Given the description of an element on the screen output the (x, y) to click on. 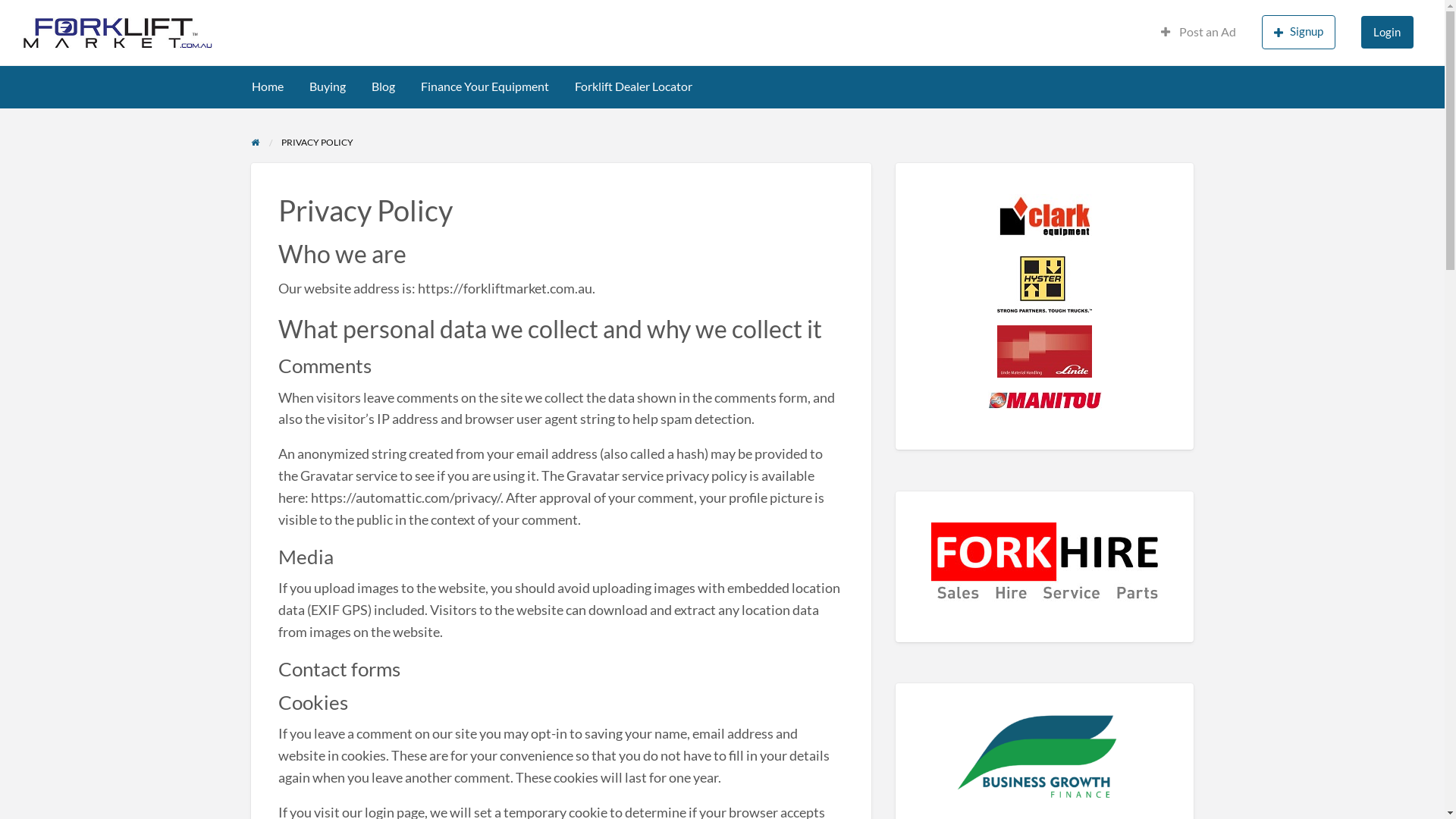
Forklift Dealer Locator Element type: text (633, 86)
Blog Element type: text (382, 86)
Finance Your Equipment Element type: text (484, 86)
Login Element type: text (1387, 31)
Home Element type: text (267, 86)
Signup Element type: text (1298, 32)
Buying Element type: text (327, 86)
Signup Element type: text (1298, 32)
Login Element type: text (1387, 31)
Post an Ad Element type: text (1198, 32)
Forkliftmarket Element type: text (322, 33)
Forklift Dealer Locator Element type: text (119, 91)
